Given the description of an element on the screen output the (x, y) to click on. 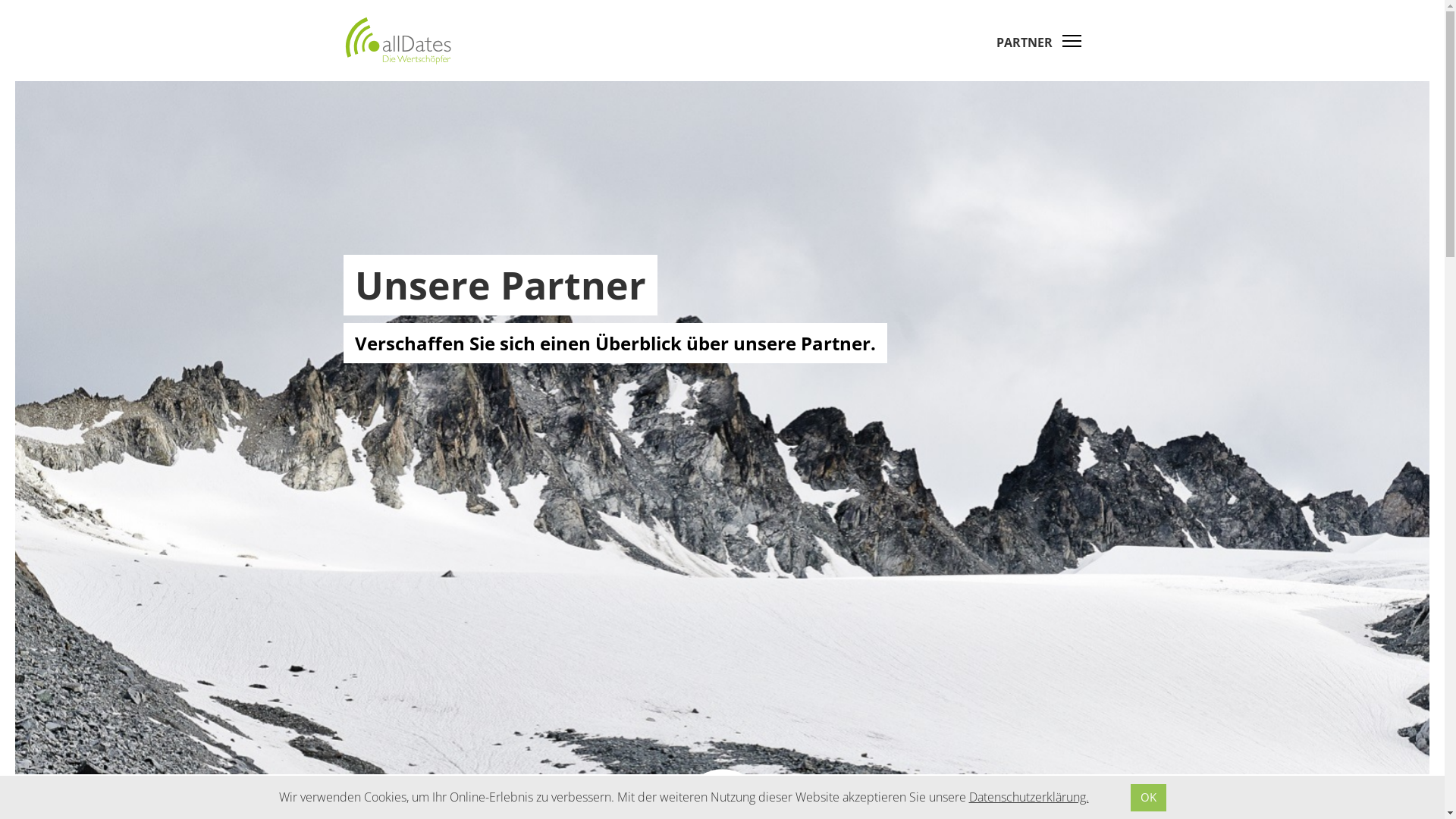
PARTNER Element type: text (1050, 42)
OK Element type: text (1147, 797)
